Given the description of an element on the screen output the (x, y) to click on. 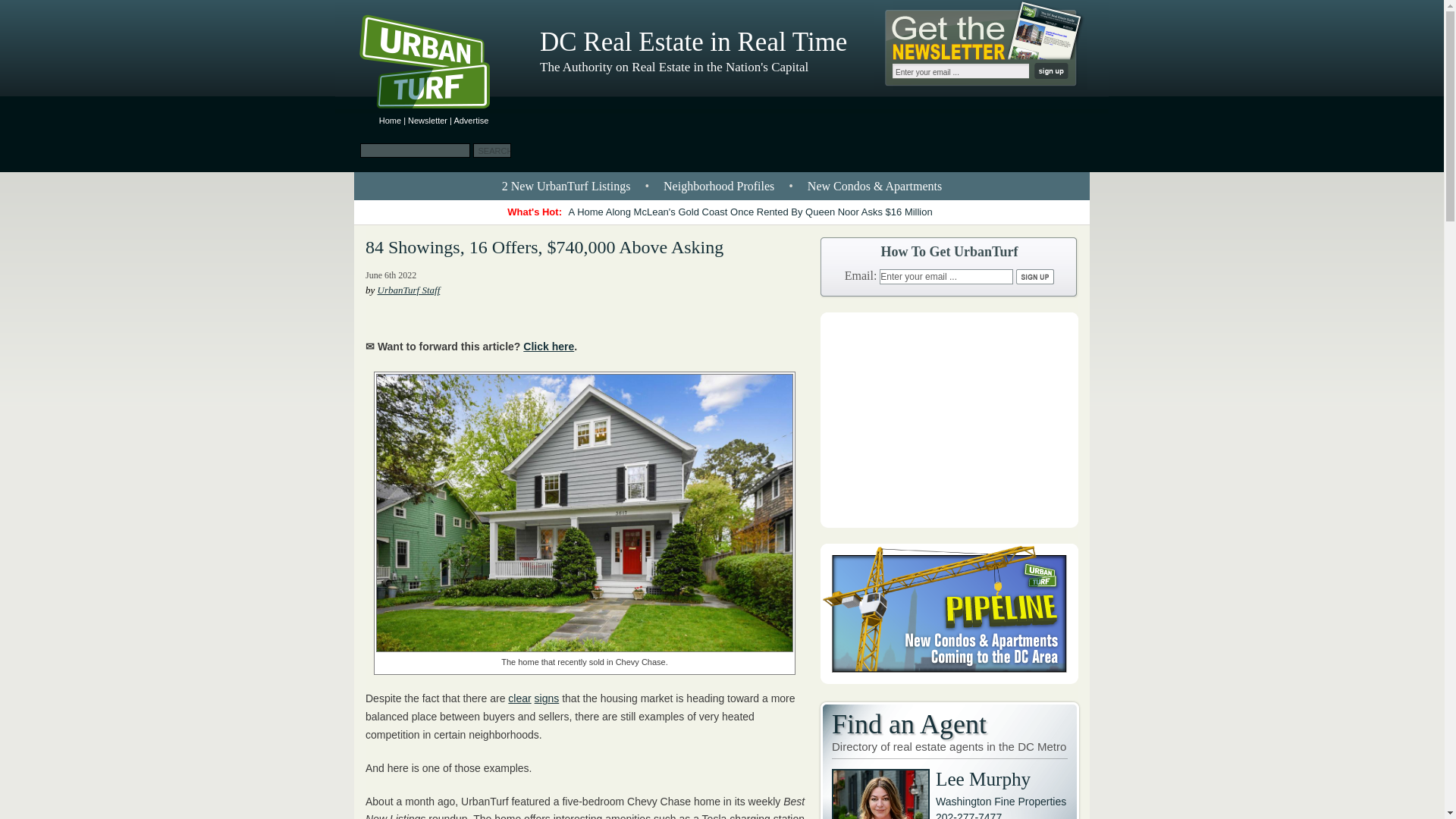
2 New UrbanTurf Listings (566, 185)
Permalink (544, 247)
signs (546, 698)
UrbanTurf Pipeline (949, 680)
Home (389, 120)
UrbanTurf Homepage (437, 64)
Neighborhood Profiles (719, 185)
Advertise (469, 120)
UrbanTurf Staff (409, 289)
Search (492, 150)
Enter your email ... (960, 70)
Click here (547, 346)
UrbanTurf (389, 120)
UrbanTurf Newsletter (426, 120)
